Given the description of an element on the screen output the (x, y) to click on. 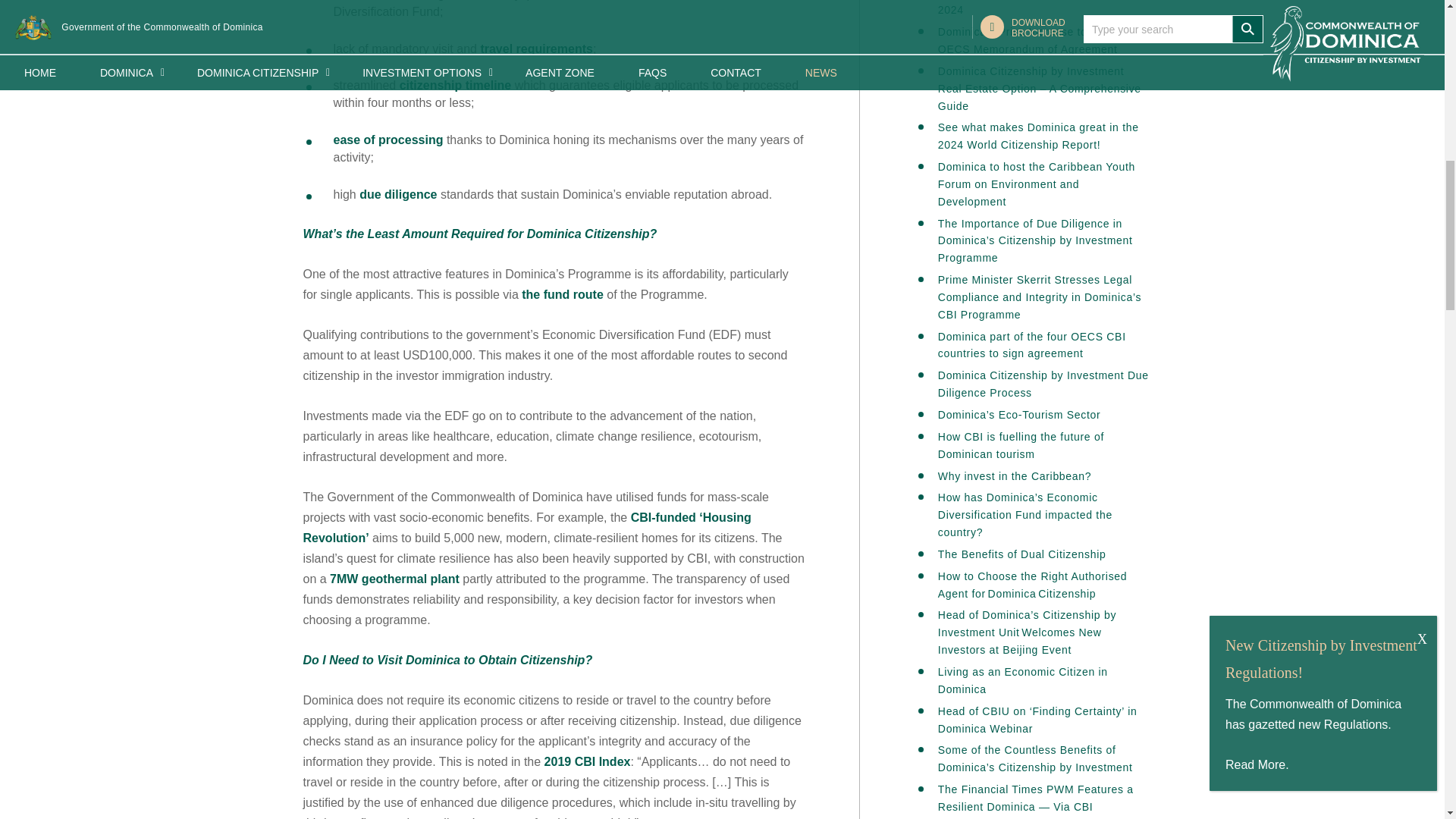
the fund route (562, 294)
7MW geothermal plant (395, 578)
2019 CBI Index (587, 761)
